Given the description of an element on the screen output the (x, y) to click on. 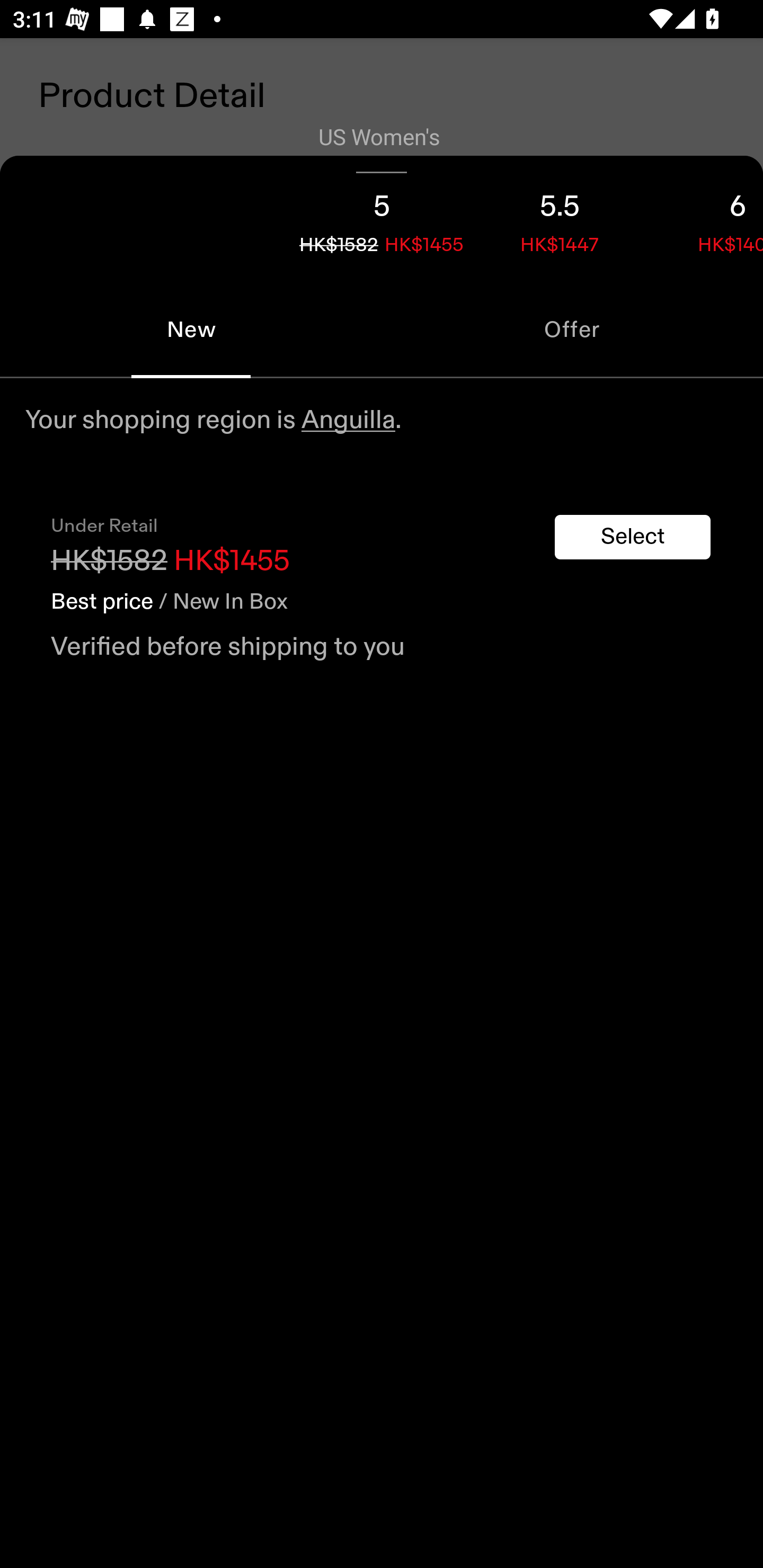
5 HK$1582 HK$1455 (381, 218)
5.5 HK$1447 (559, 218)
6 HK$1400 (705, 218)
Offer (572, 329)
Select (632, 536)
Sell (152, 606)
